Given the description of an element on the screen output the (x, y) to click on. 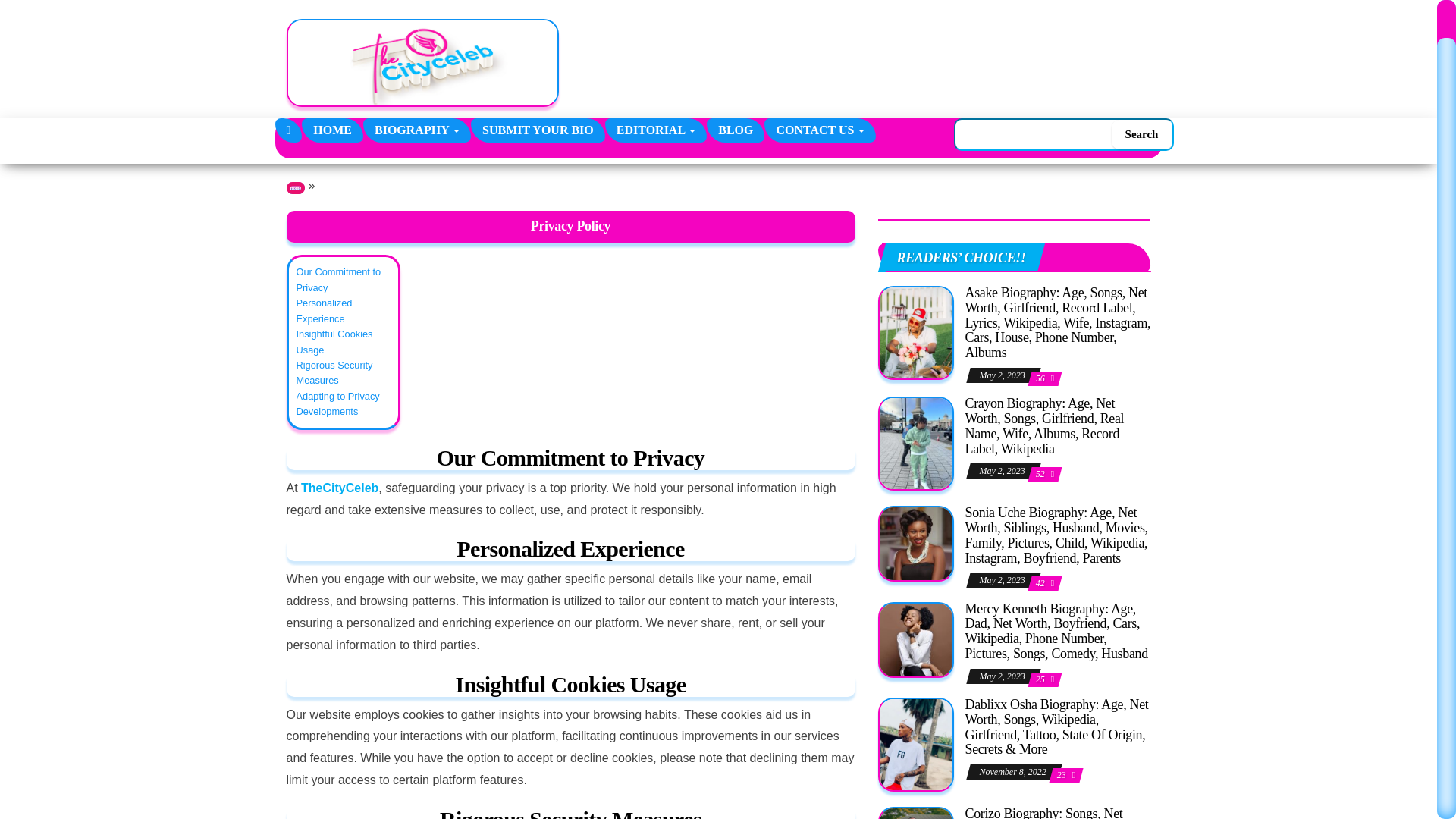
Search (1142, 134)
TheCityCeleb (608, 43)
BIOGRAPHY (416, 129)
HOME (331, 129)
Biography (416, 129)
TheCityCeleb (288, 129)
Home (331, 129)
